Given the description of an element on the screen output the (x, y) to click on. 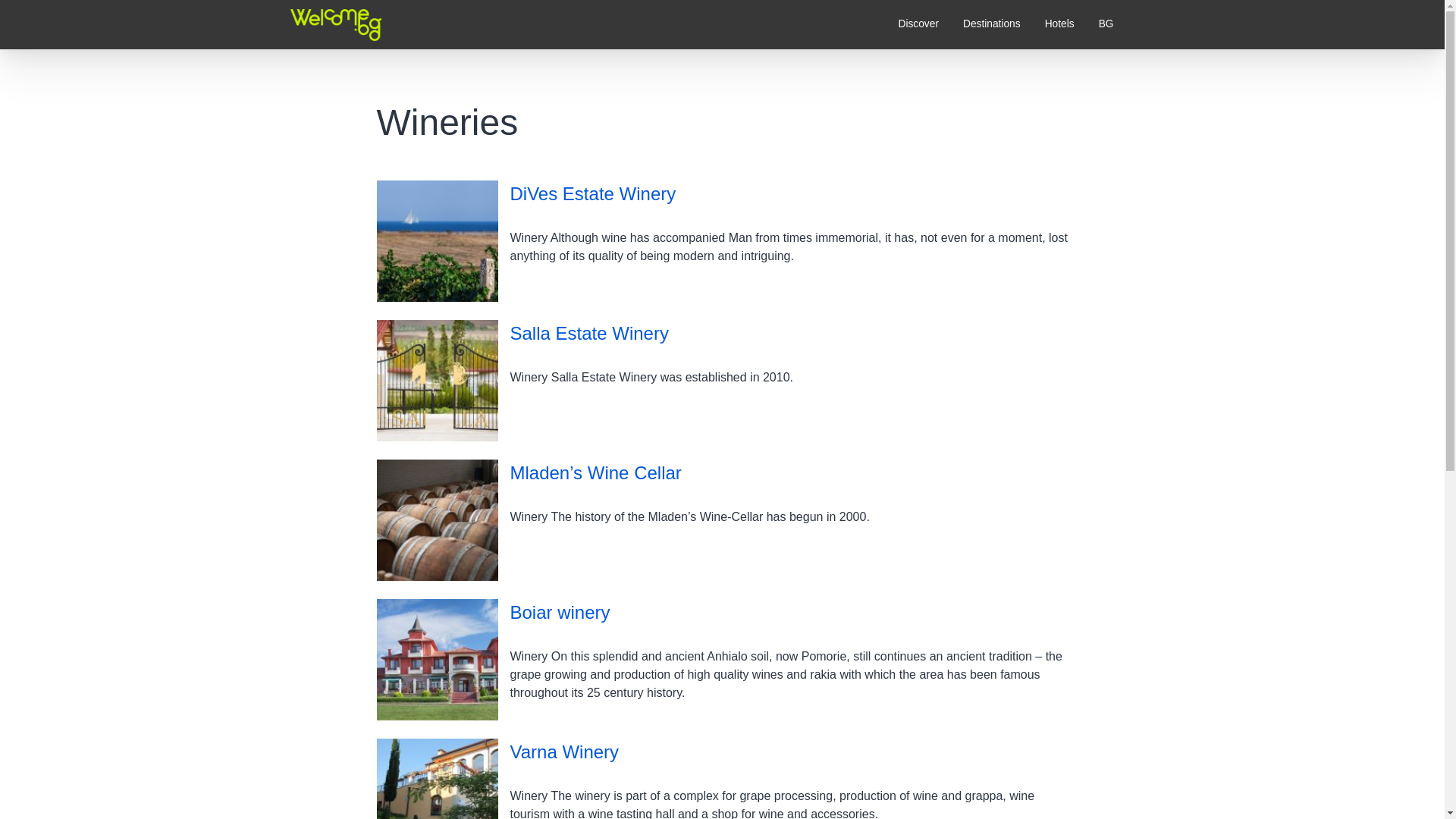
Discover (917, 24)
DiVes Estate Winery (592, 193)
Destinations (991, 24)
Hotels (1058, 24)
WELCOME.BG (330, 66)
Salla Estate Winery (588, 332)
